Given the description of an element on the screen output the (x, y) to click on. 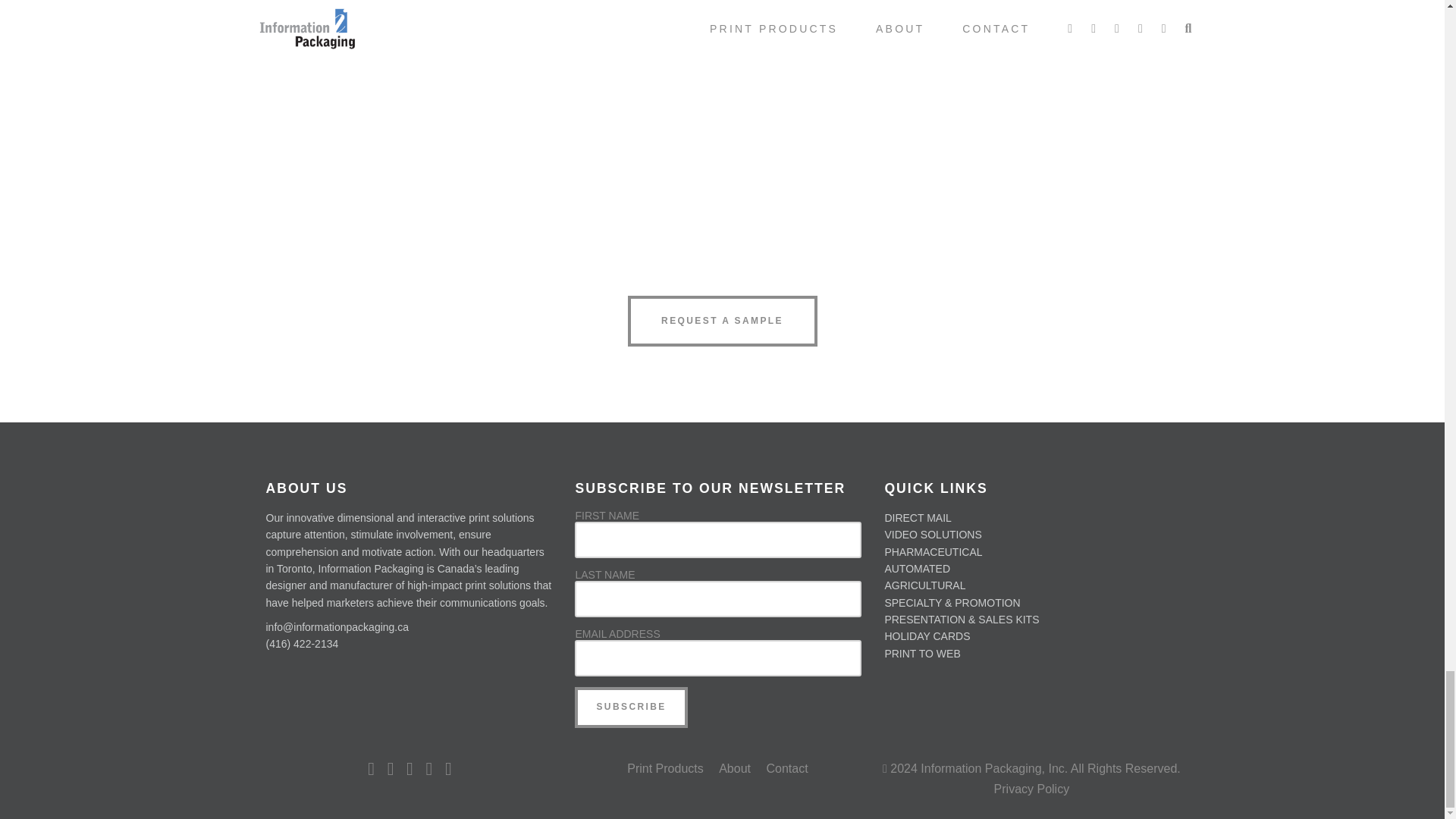
Subscribe (631, 707)
DIRECT MAIL (916, 517)
Subscribe (631, 707)
VIDEO SOLUTIONS (932, 534)
PRINT TO WEB (921, 653)
REQUEST A SAMPLE (721, 320)
PHARMACEUTICAL (932, 551)
HOLIDAY CARDS (926, 635)
AGRICULTURAL (924, 585)
AUTOMATED (916, 568)
